Given the description of an element on the screen output the (x, y) to click on. 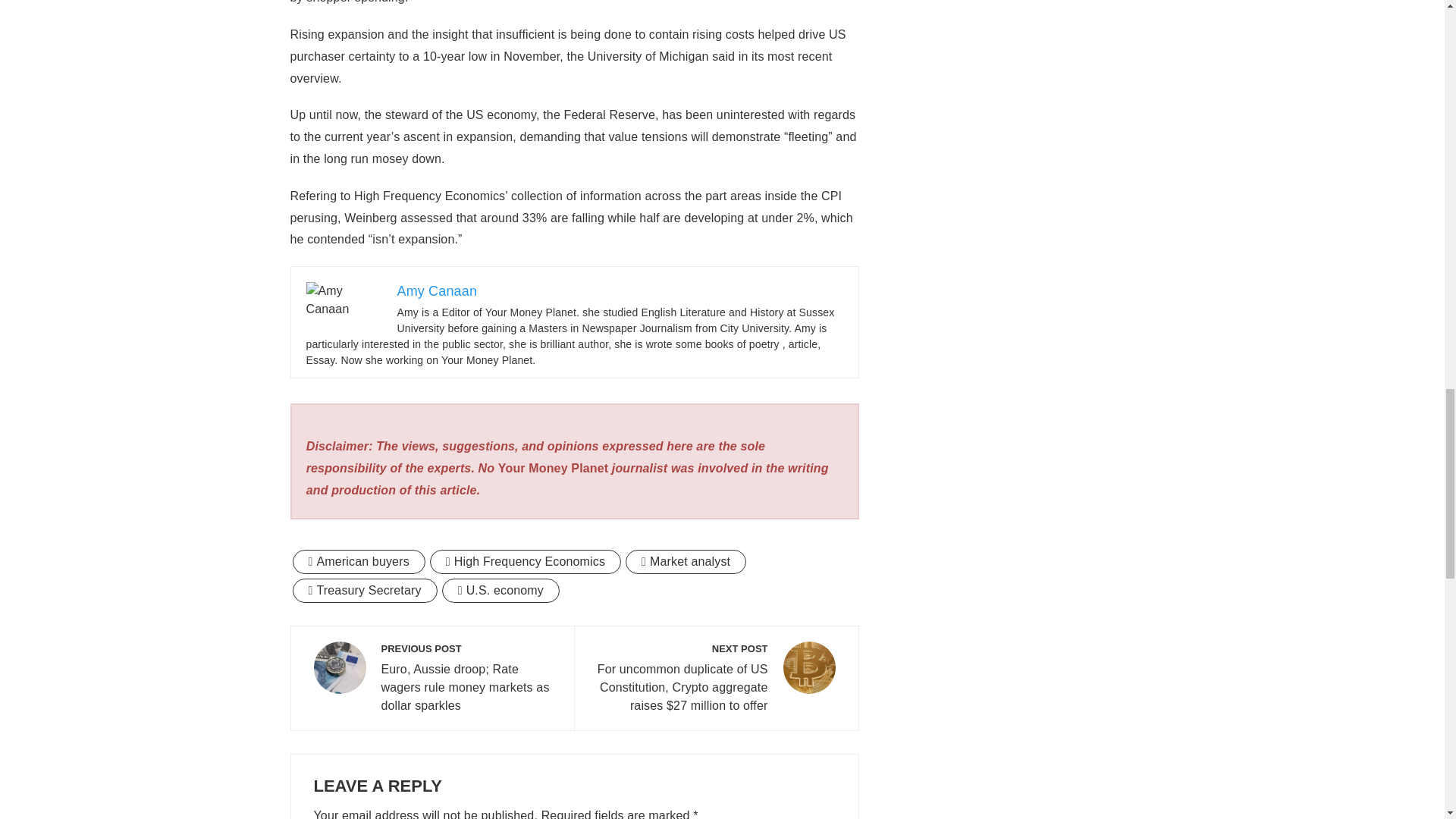
U.S. economy (500, 590)
Market analyst (685, 561)
Amy Canaan (437, 290)
High Frequency Economics (525, 561)
Treasury Secretary (365, 590)
American buyers (358, 561)
